Given the description of an element on the screen output the (x, y) to click on. 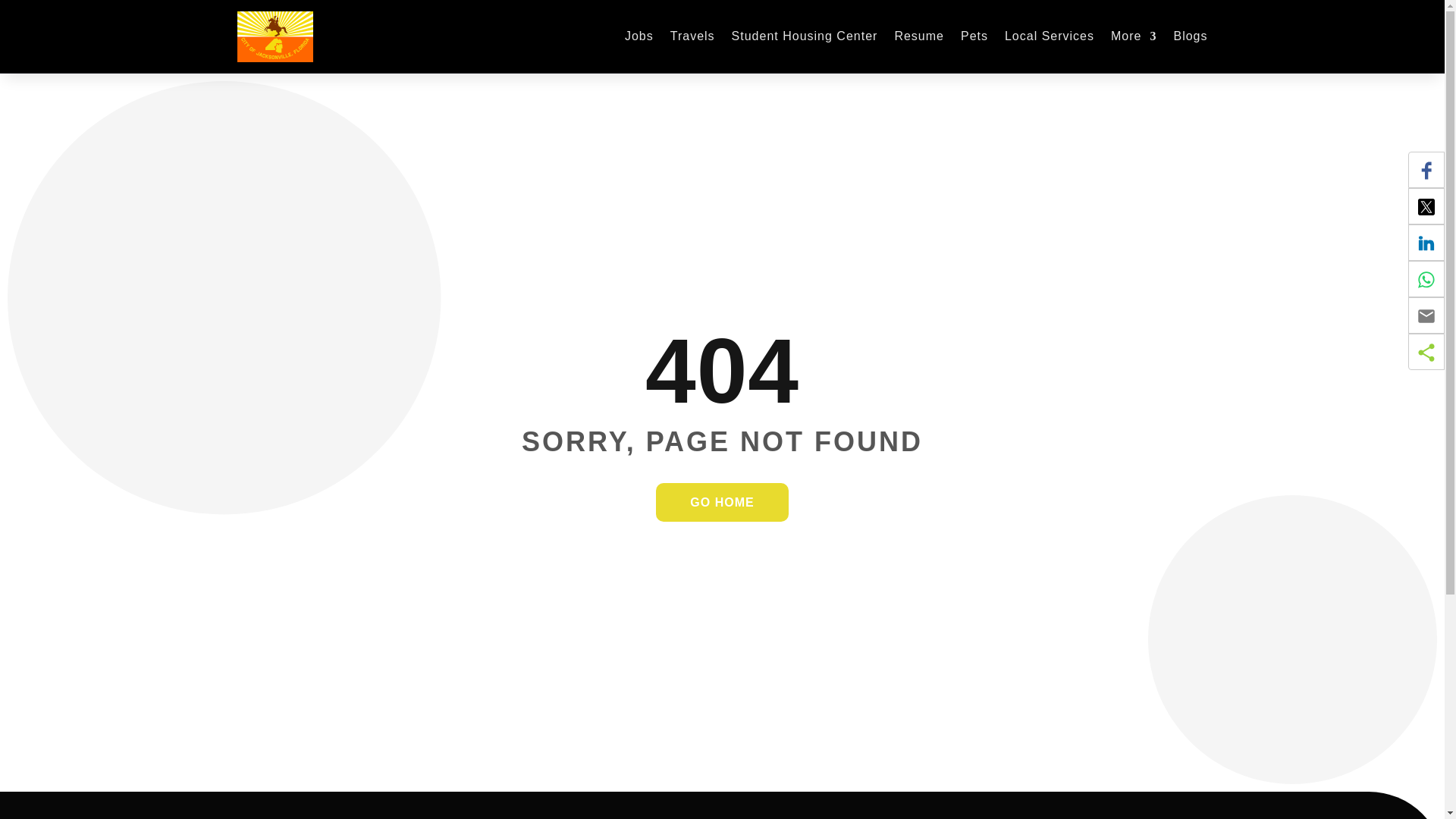
Resume (918, 36)
Student Housing Center (804, 36)
Blogs (1190, 36)
Local Services (1049, 36)
More (1133, 36)
Travels (691, 36)
Pets (974, 36)
Jobs (638, 36)
